Given the description of an element on the screen output the (x, y) to click on. 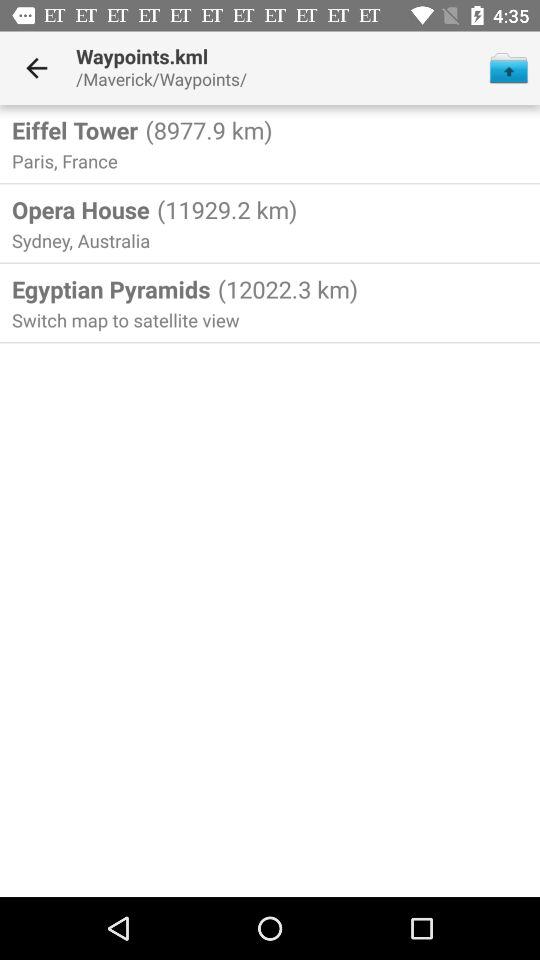
press the  (11929.2 km) icon (224, 209)
